Given the description of an element on the screen output the (x, y) to click on. 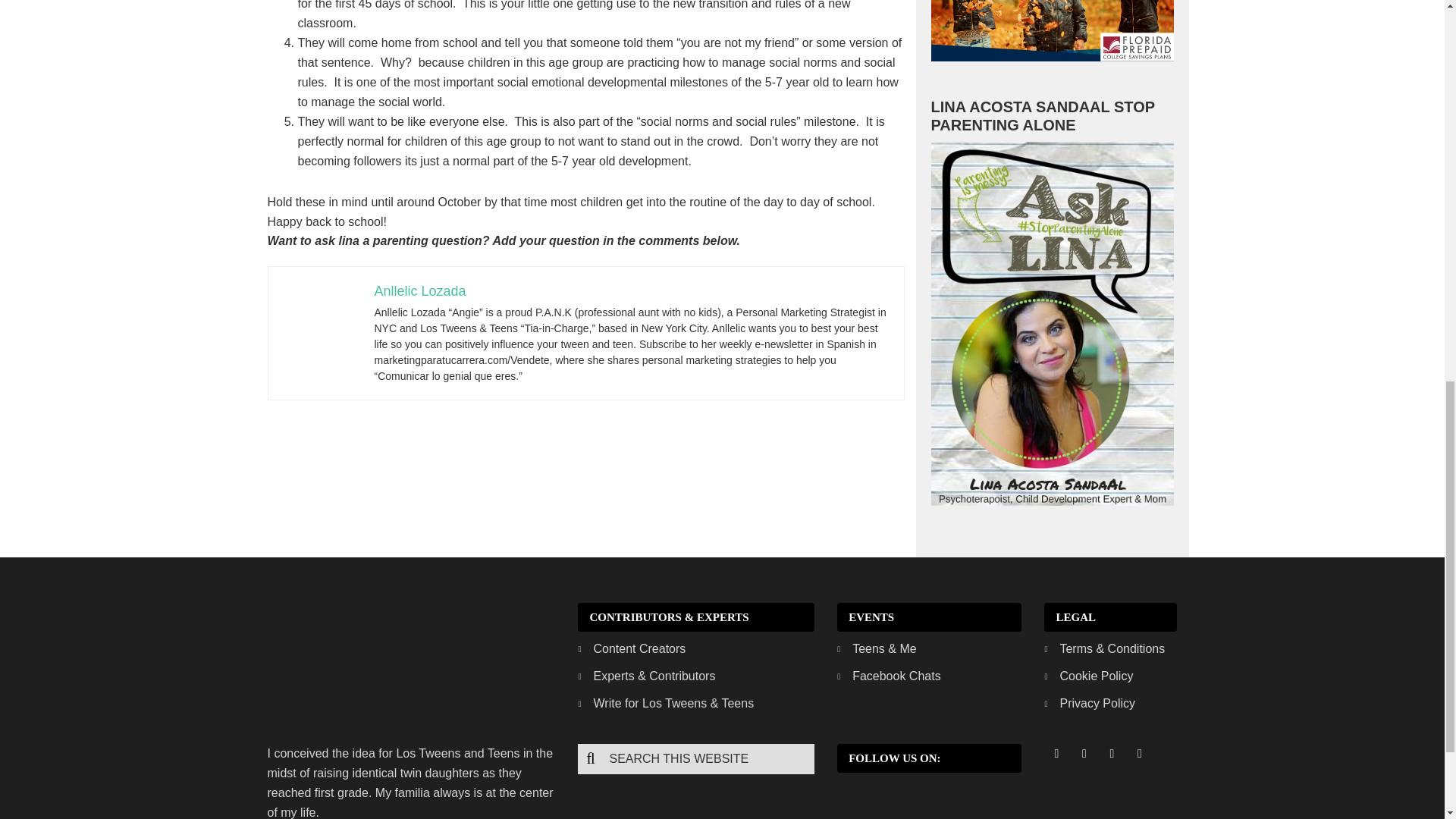
Lostweens Youtube (1138, 753)
Lostweens Twitter (1083, 753)
Lostweens Facebook (1055, 753)
Lostweens Instagram (1111, 753)
